Given the description of an element on the screen output the (x, y) to click on. 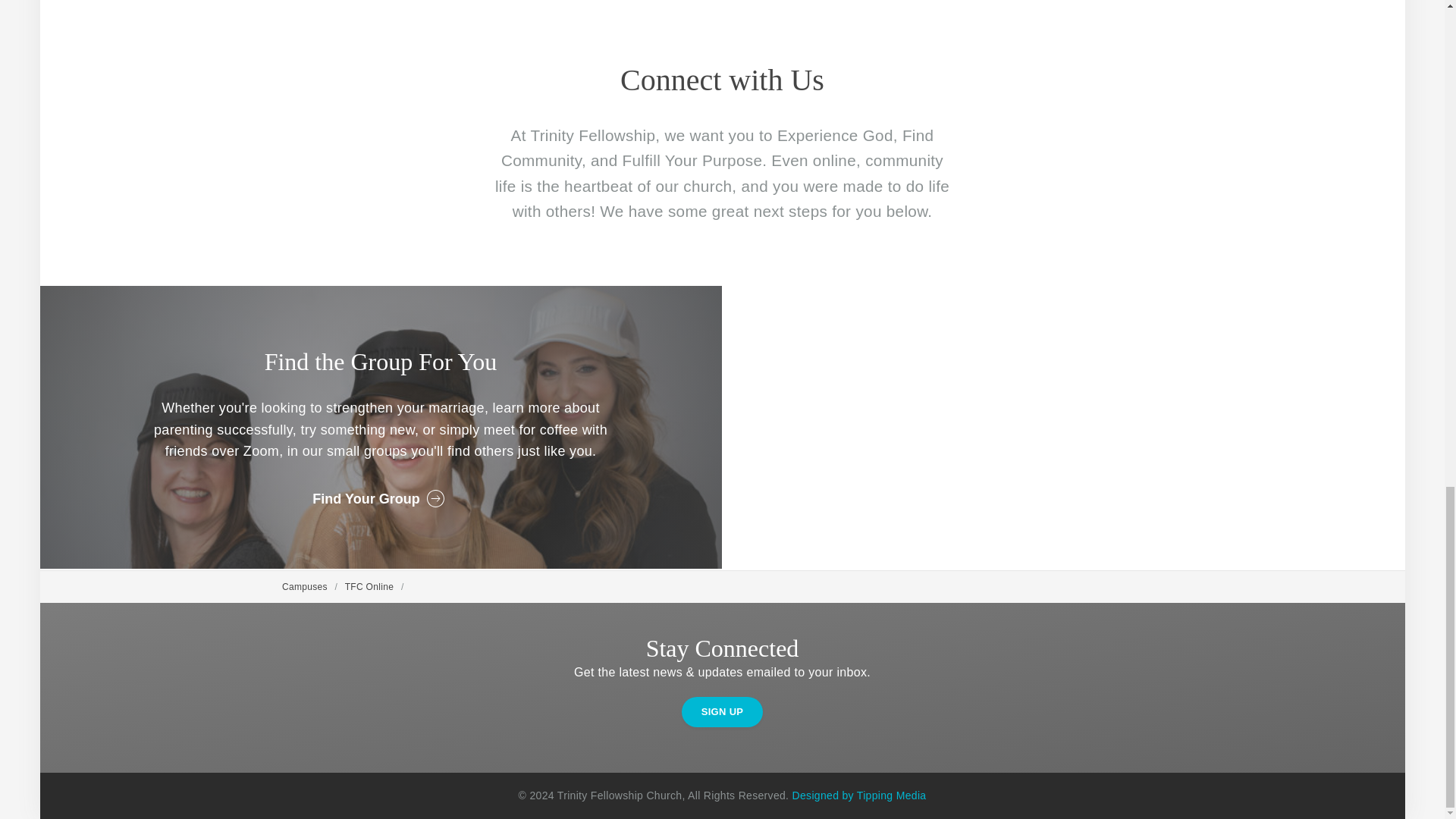
TFC Online (369, 586)
Campuses (304, 586)
Find Your Group (380, 498)
